Given the description of an element on the screen output the (x, y) to click on. 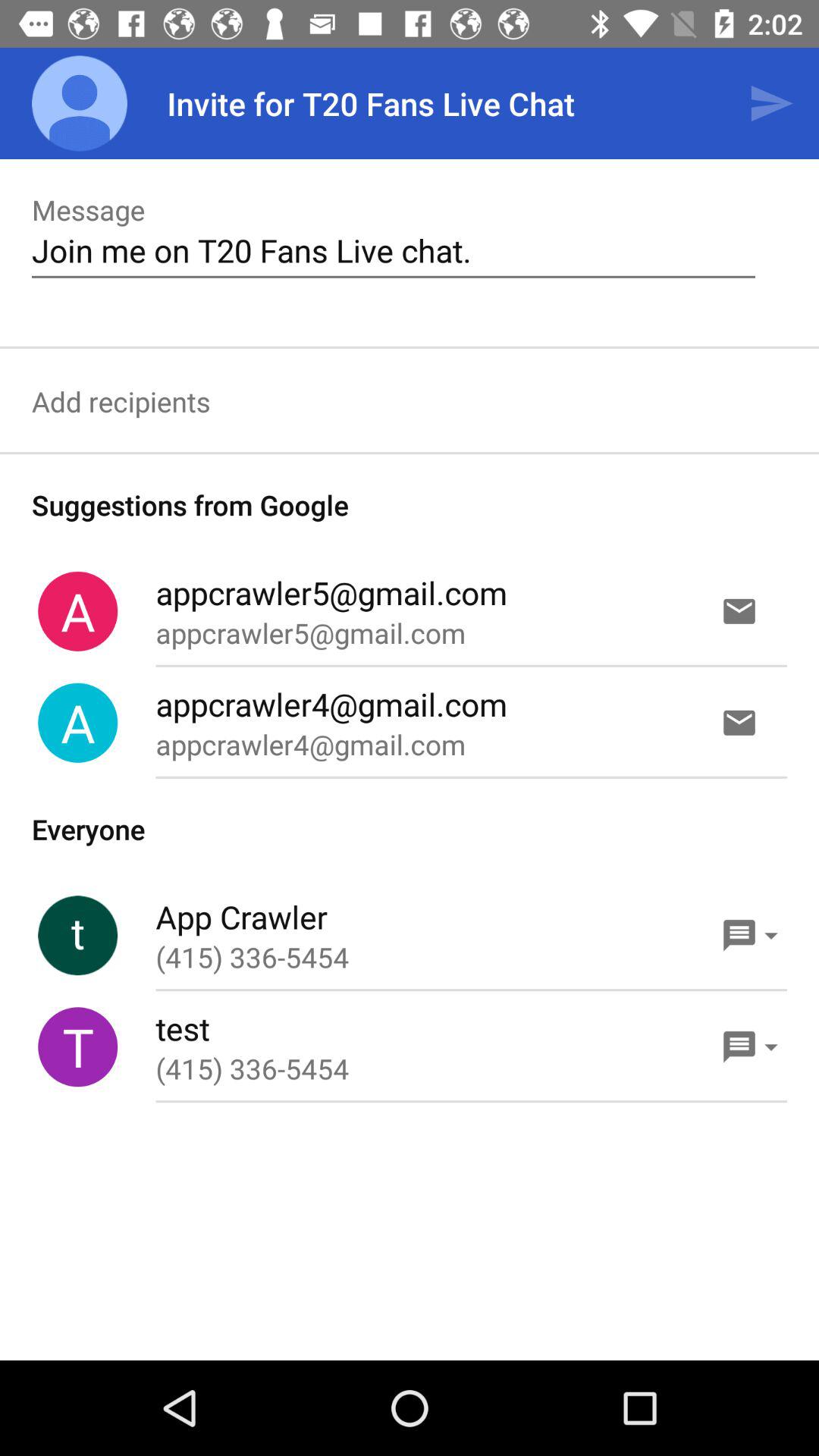
press the item above join me on (771, 103)
